Given the description of an element on the screen output the (x, y) to click on. 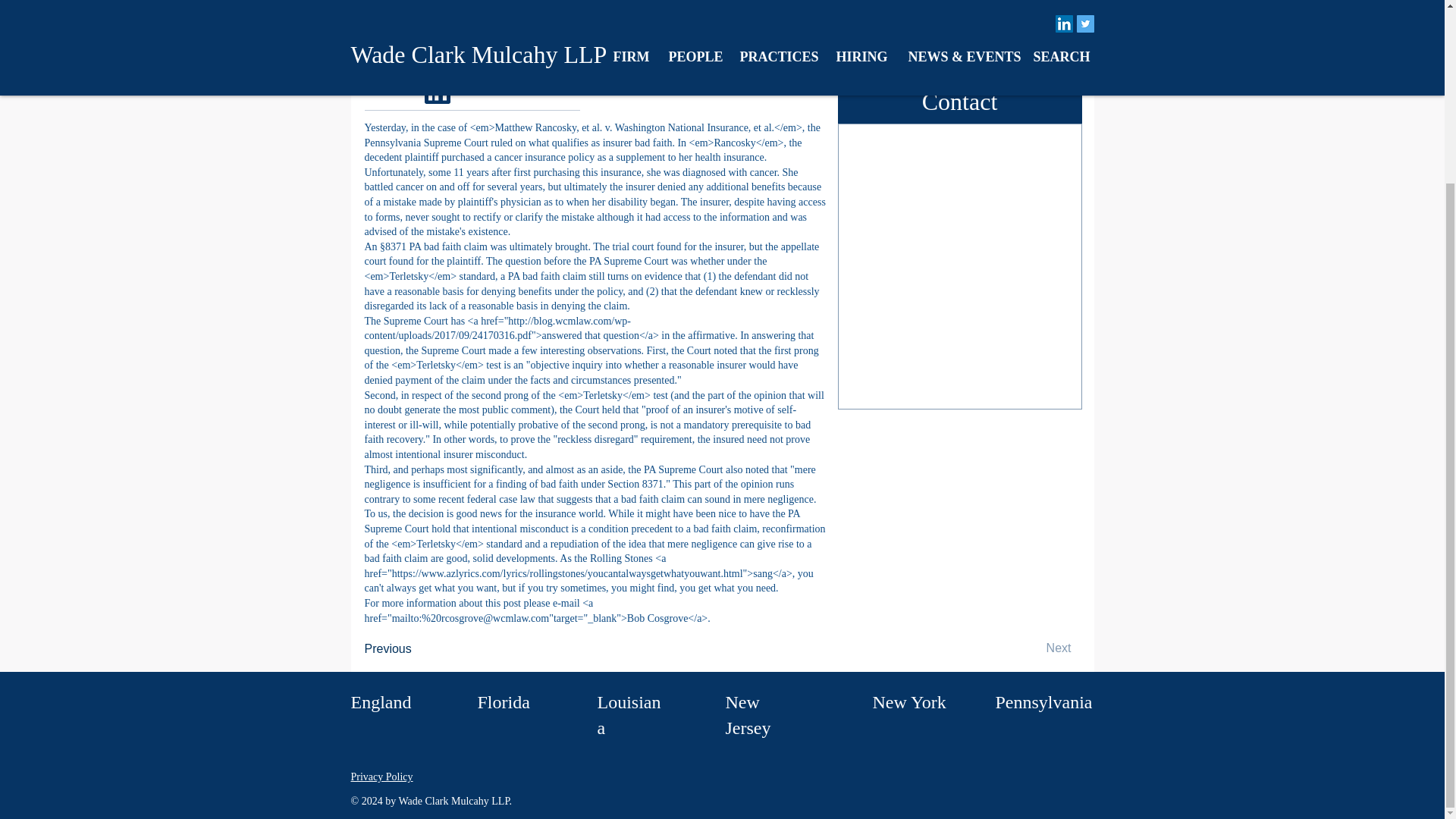
Next (1032, 648)
Florida (503, 701)
England (380, 701)
Privacy Policy (381, 776)
Previous (414, 648)
New Jersey (747, 714)
Pennsylvania (1043, 701)
New York (908, 701)
